Given the description of an element on the screen output the (x, y) to click on. 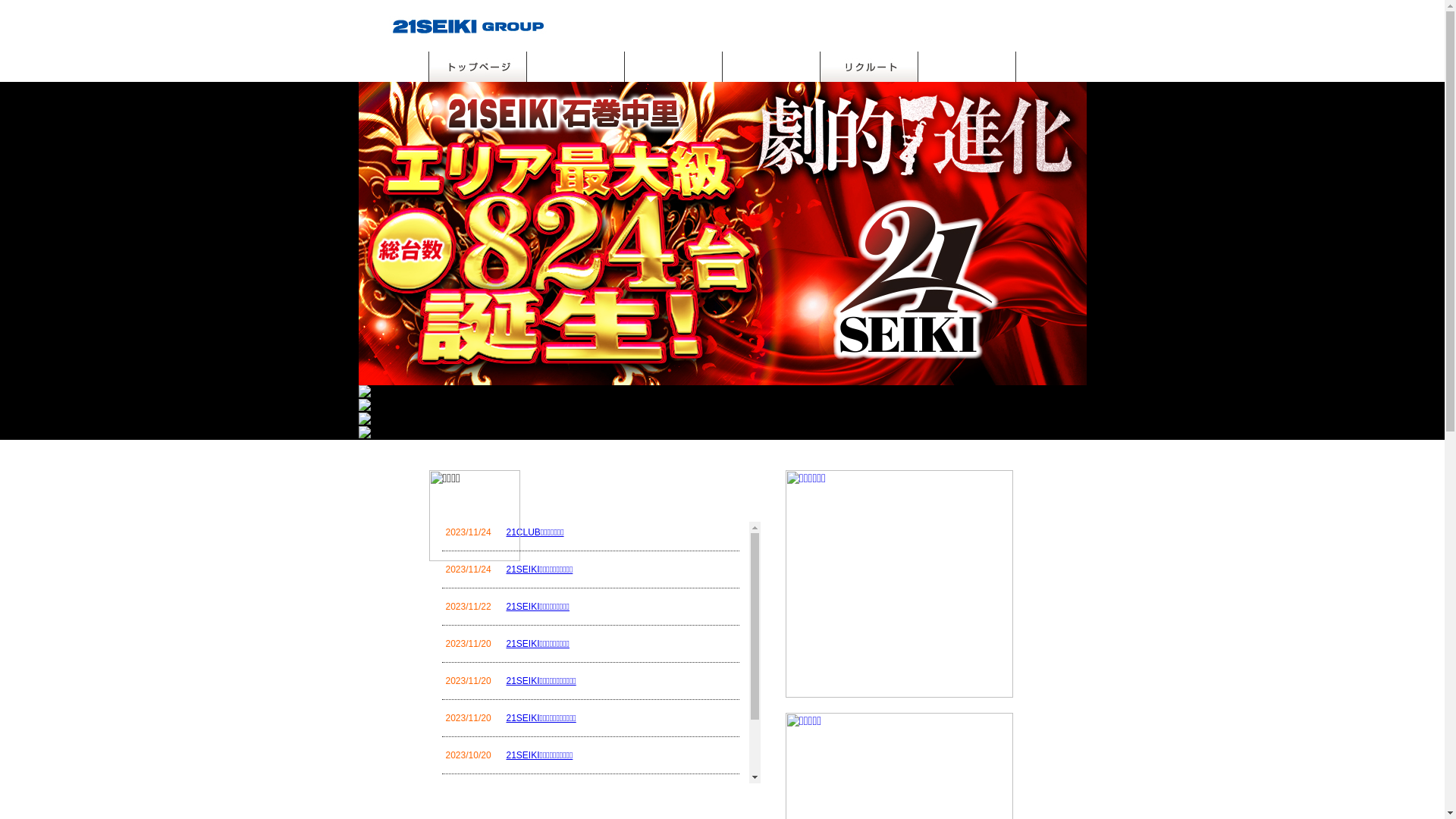
21SEIKI Element type: text (467, 25)
